Given the description of an element on the screen output the (x, y) to click on. 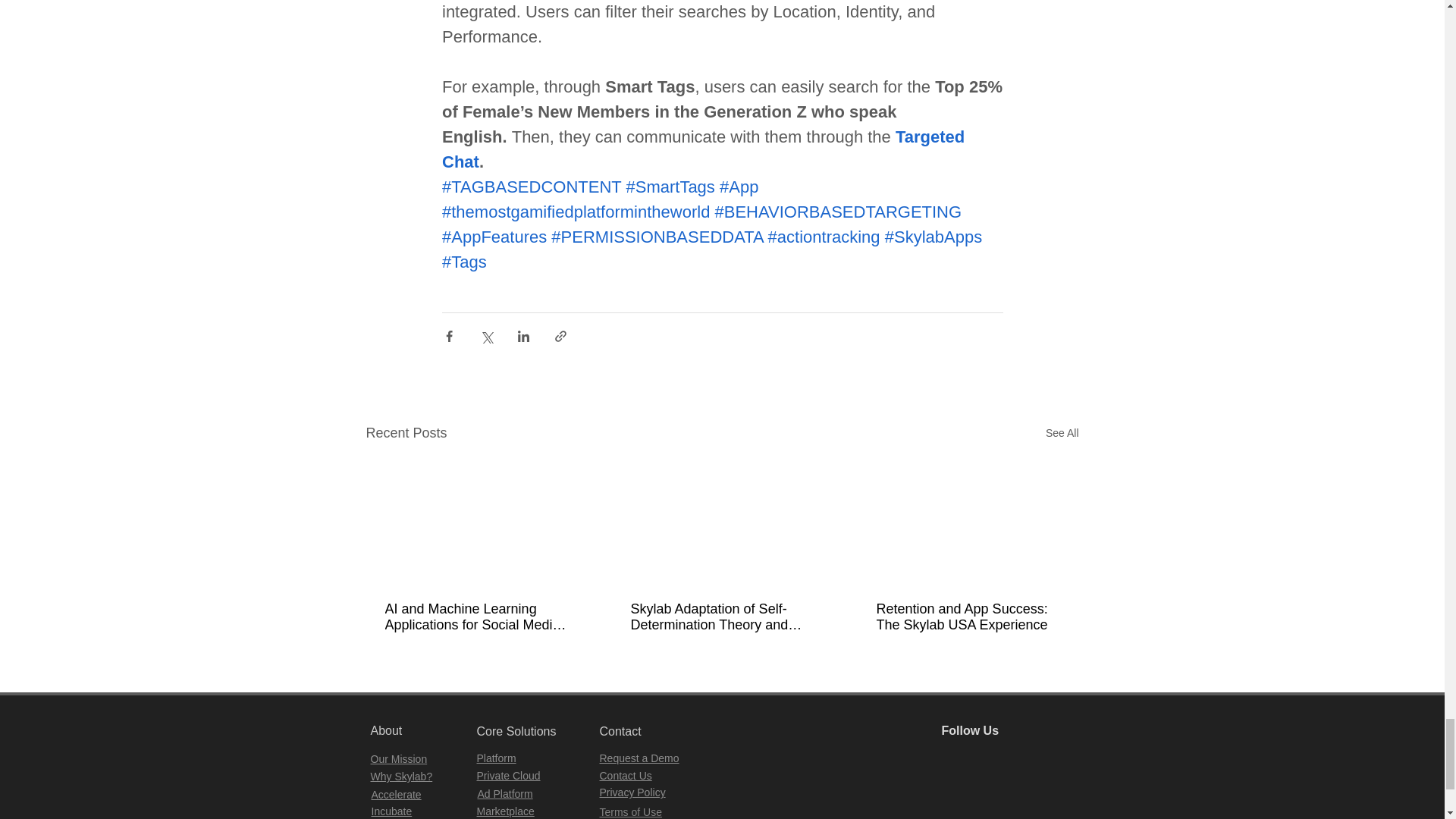
See All (1061, 433)
Targeted Chat (704, 149)
